Given the description of an element on the screen output the (x, y) to click on. 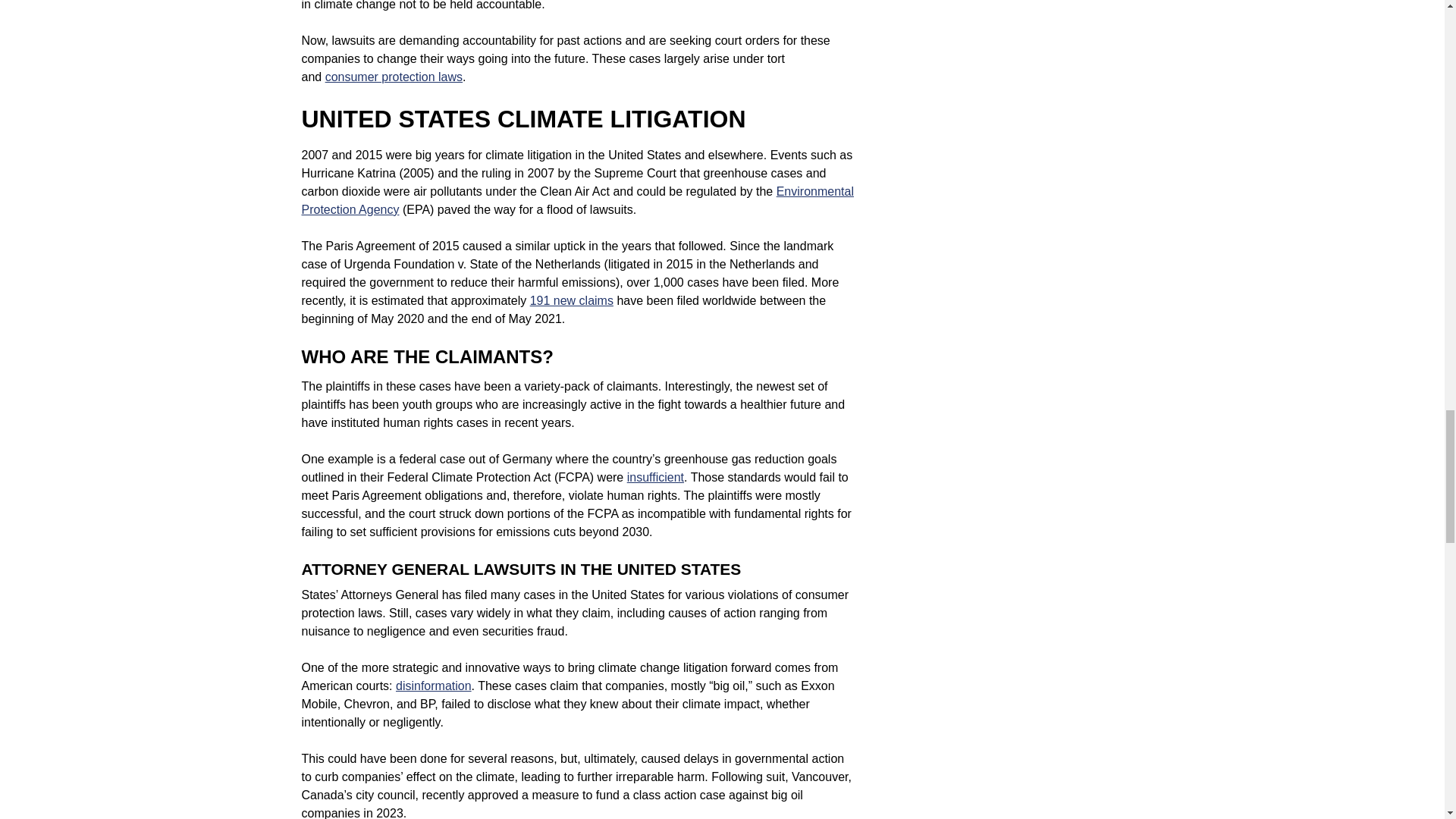
consumer protection laws (393, 76)
Environmental Protection Agency (577, 200)
191 new claims (570, 300)
